Given the description of an element on the screen output the (x, y) to click on. 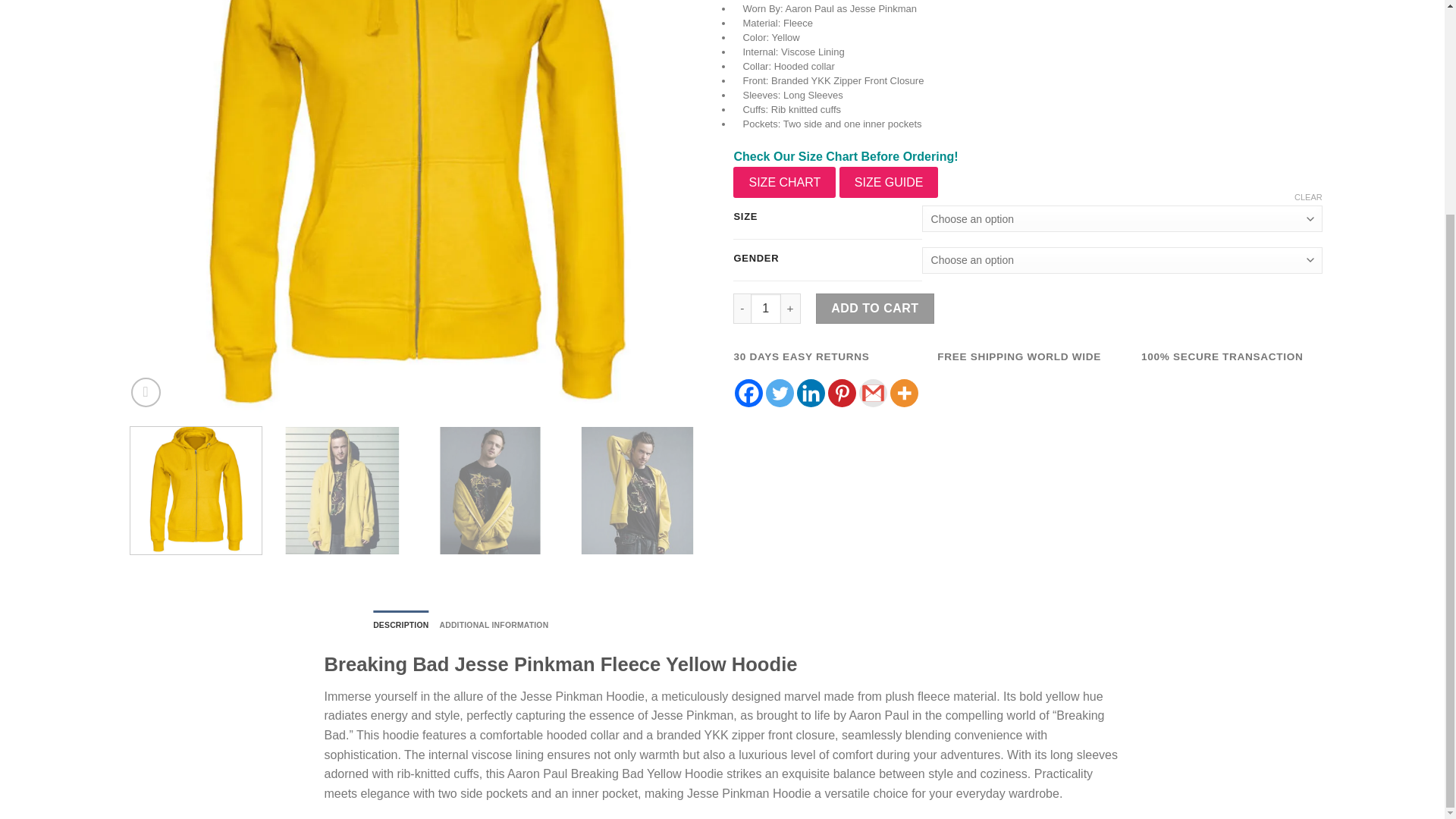
1 (765, 308)
